Given the description of an element on the screen output the (x, y) to click on. 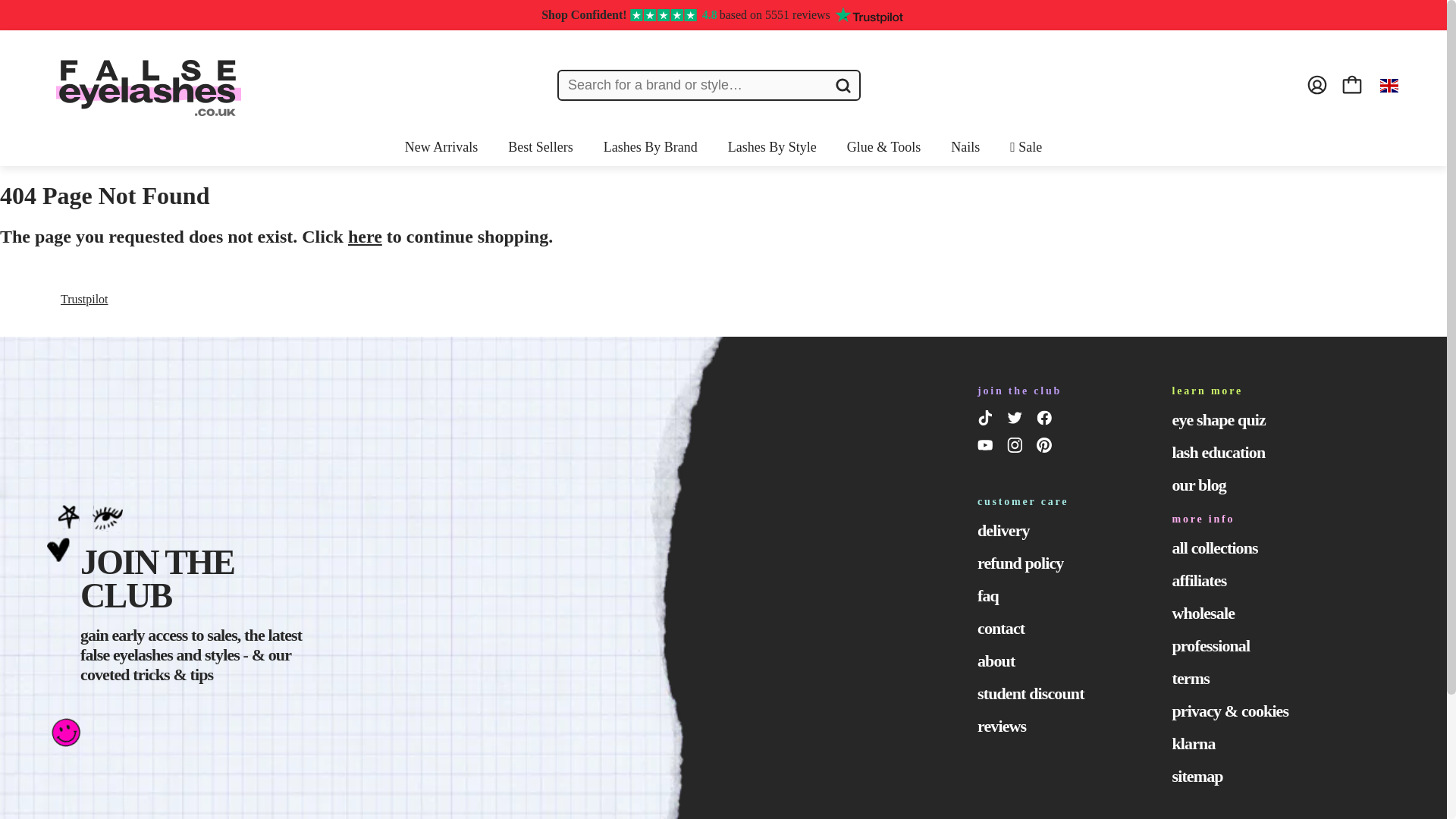
FalseEyelashes.co.uk on YouTube (986, 447)
Lashes By Brand (650, 146)
FalseEyelashes.co.uk on Instagram (1017, 447)
FalseEyelashes.co.uk (148, 84)
New Arrivals (440, 146)
FalseEyelashes.co.uk on Twitter (1017, 420)
Best Sellers (540, 146)
FalseEyelashes.co.uk on Facebook (1046, 420)
FalseEyelashes.co.uk on TikTok (986, 420)
FalseEyelashes.co.uk on Pinterest (1046, 447)
